Given the description of an element on the screen output the (x, y) to click on. 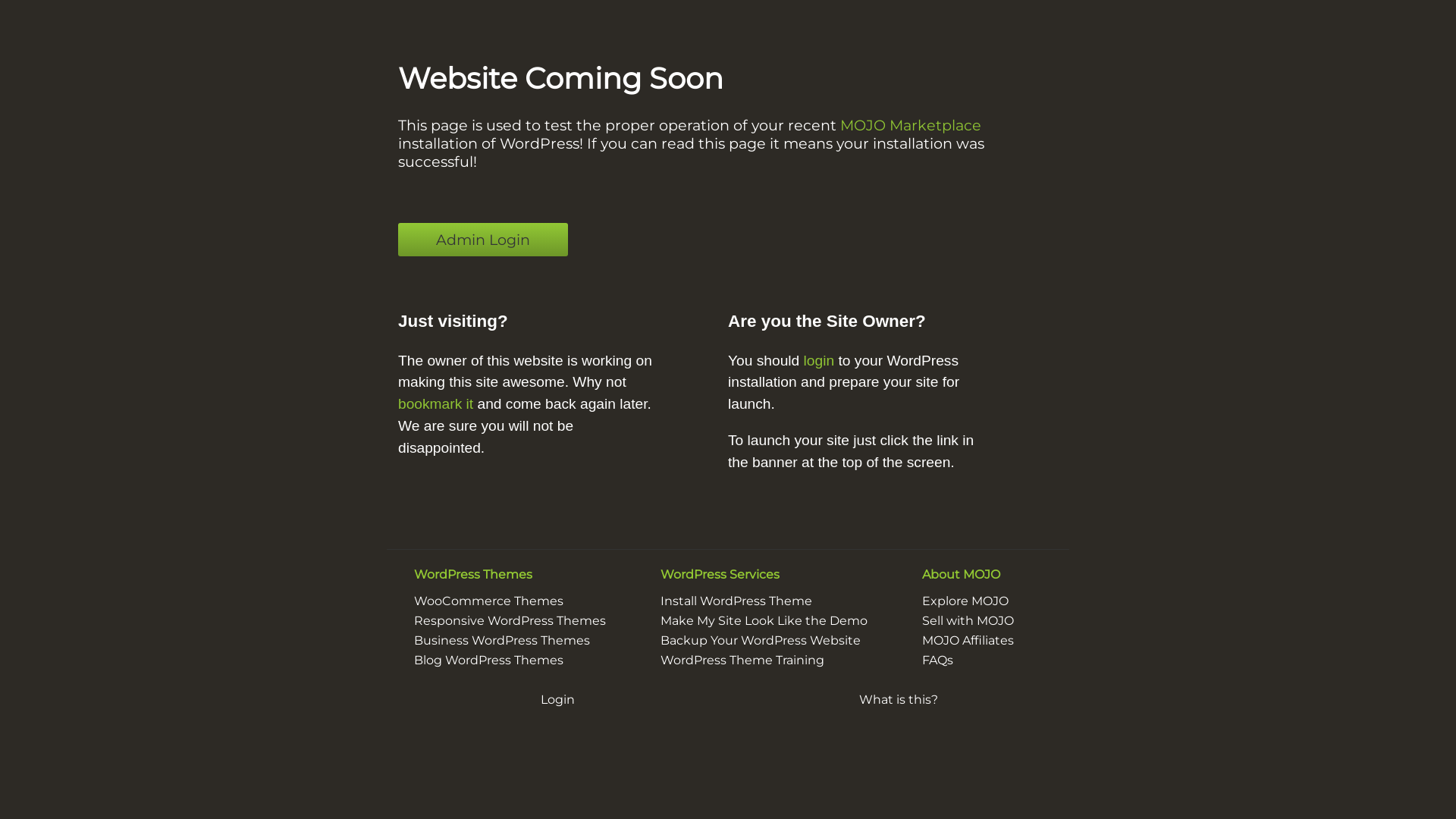
MOJO Marketplace Element type: text (910, 125)
Login Element type: text (557, 699)
Admin Login Element type: text (482, 239)
Business WordPress Themes Element type: text (501, 640)
What is this? Element type: text (898, 699)
FAQs Element type: text (937, 659)
About MOJO Element type: text (961, 574)
login Element type: text (818, 360)
Responsive WordPress Themes Element type: text (509, 620)
WordPress Theme Training Element type: text (742, 659)
Backup Your WordPress Website Element type: text (760, 640)
WordPress Themes Element type: text (473, 574)
bookmark it Element type: text (435, 403)
Blog WordPress Themes Element type: text (488, 659)
Install WordPress Theme Element type: text (736, 600)
Make My Site Look Like the Demo Element type: text (763, 620)
Explore MOJO Element type: text (965, 600)
Sell with MOJO Element type: text (967, 620)
MOJO Affiliates Element type: text (967, 640)
WooCommerce Themes Element type: text (488, 600)
WordPress Services Element type: text (719, 574)
